Given the description of an element on the screen output the (x, y) to click on. 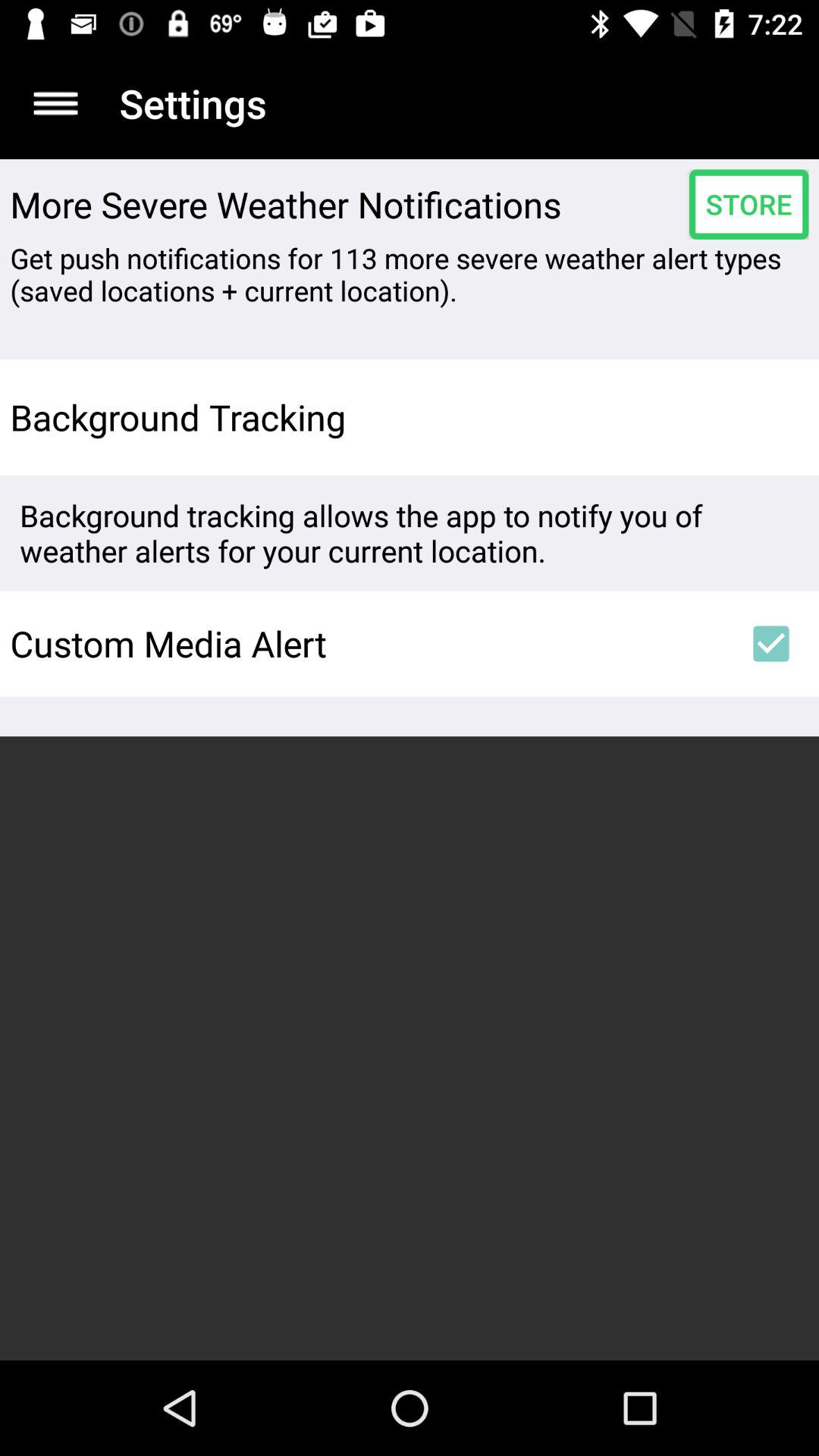
tap the item below the get push notifications (771, 417)
